Given the description of an element on the screen output the (x, y) to click on. 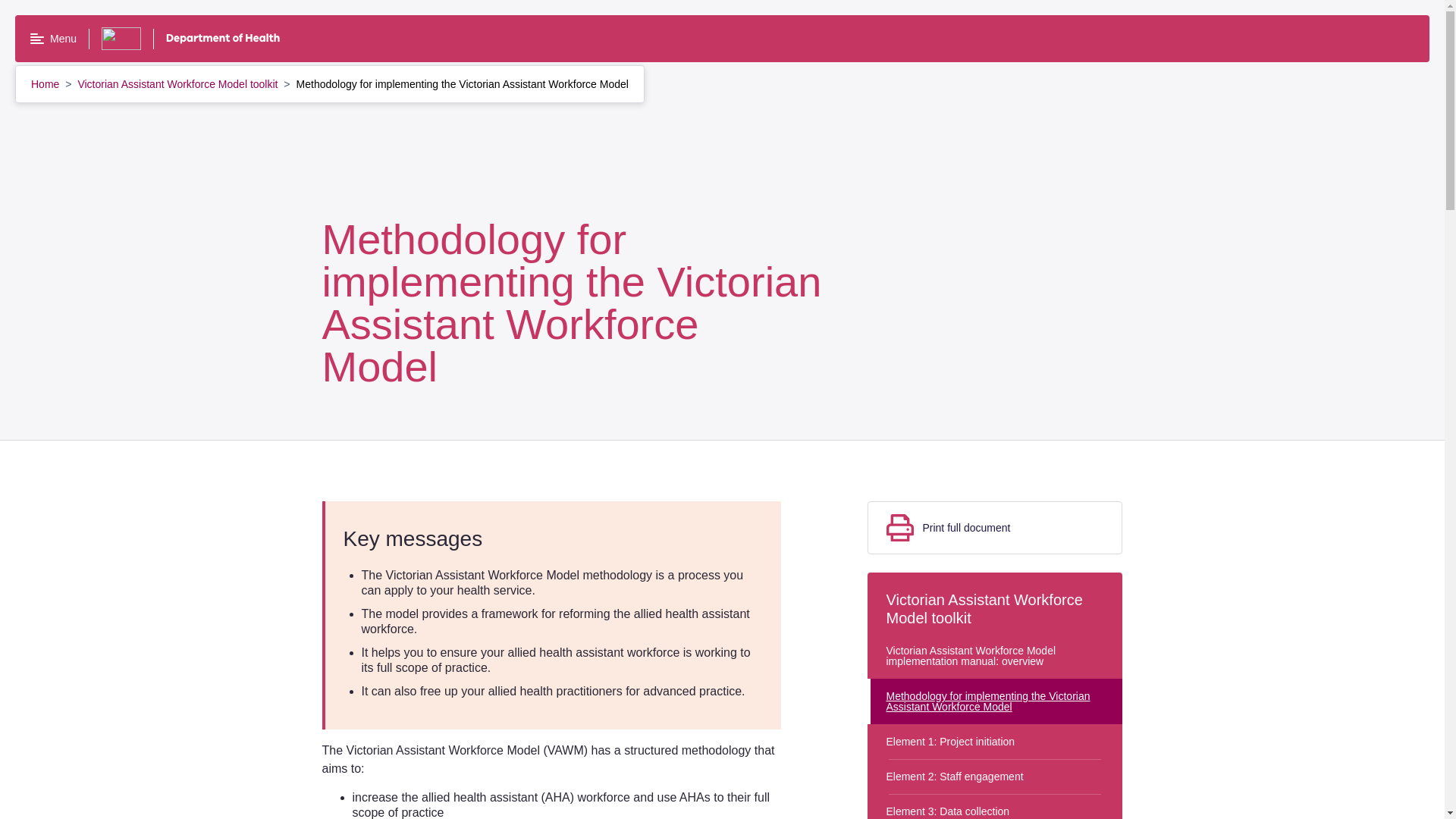
Print full document (994, 527)
Element 3: Data collection (994, 806)
Victorian Assistant Workforce Model toolkit (179, 83)
Home (46, 83)
Menu (53, 38)
Element 2: Staff engagement (994, 776)
Element 1: Project initiation (994, 741)
